Given the description of an element on the screen output the (x, y) to click on. 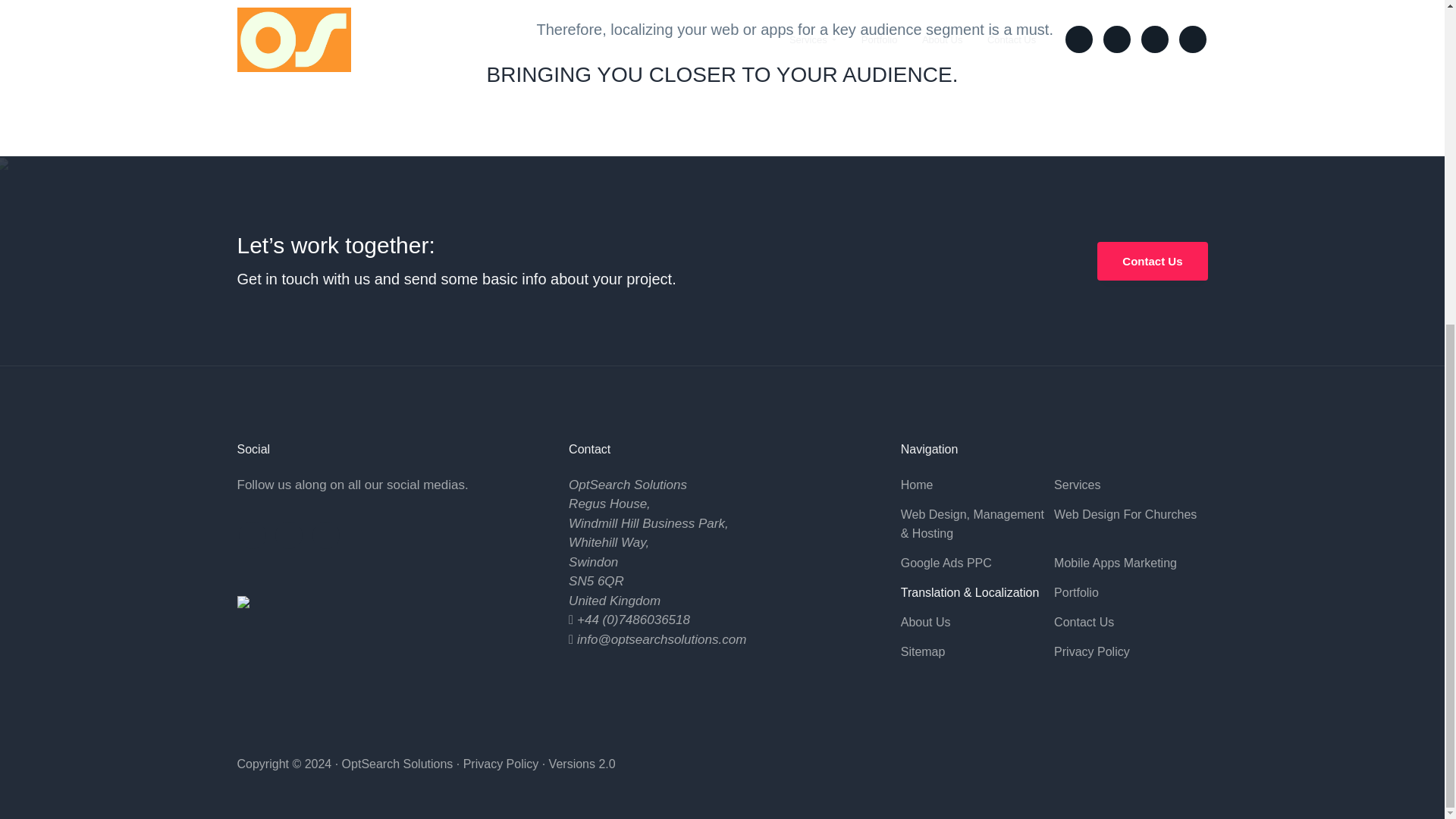
About Us (977, 622)
Google Ads PPC (977, 563)
Contact Us (1152, 260)
Mobile Apps Marketing (1130, 563)
Portfolio (1130, 592)
Web Design For Churches (1130, 514)
Sitemap (977, 651)
Contact Us (1130, 622)
Home (977, 485)
Services (1130, 485)
